Given the description of an element on the screen output the (x, y) to click on. 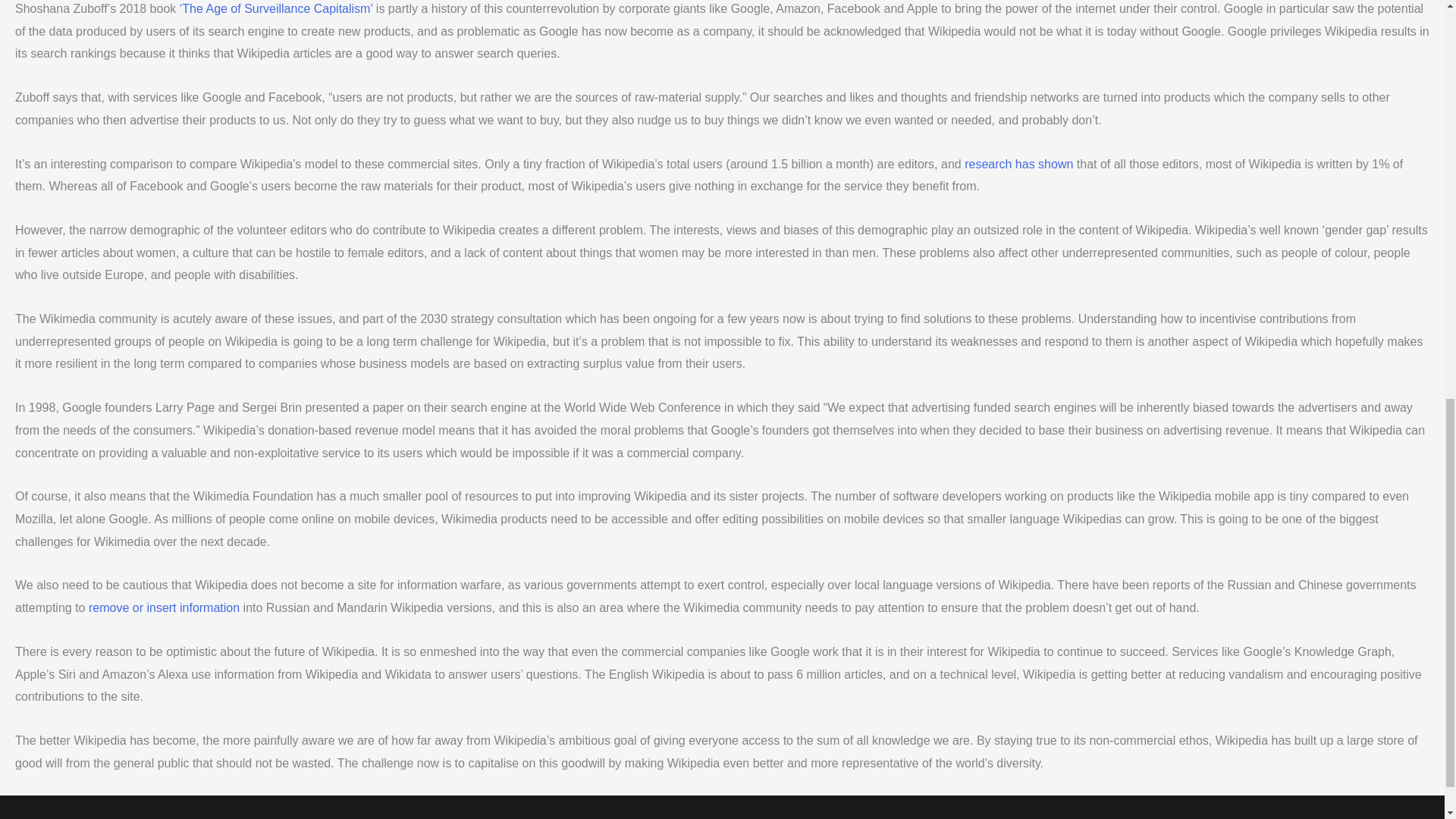
research has shown (1018, 164)
remove or insert information (164, 607)
